Given the description of an element on the screen output the (x, y) to click on. 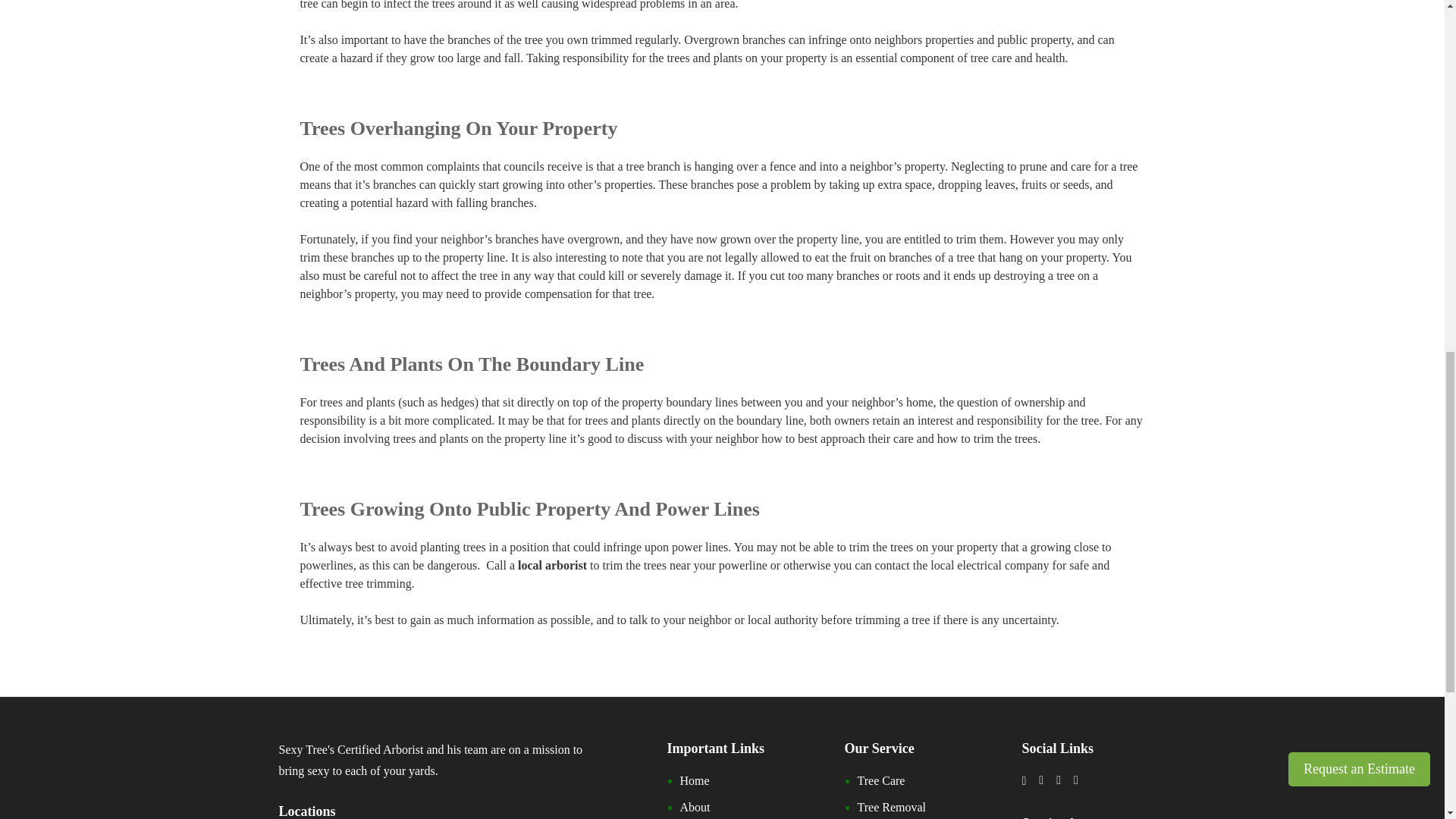
Home (694, 780)
About (694, 807)
